Given the description of an element on the screen output the (x, y) to click on. 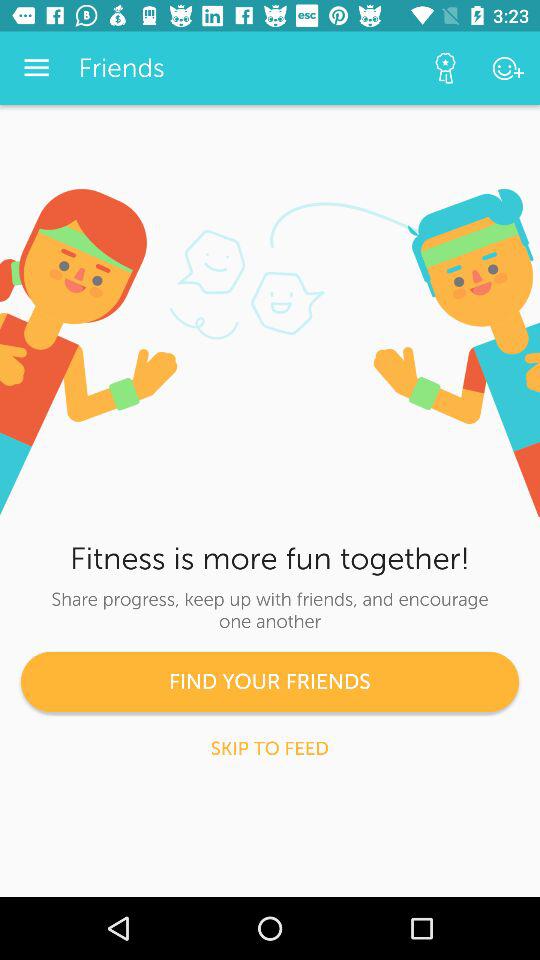
turn off the skip to feed icon (269, 748)
